Given the description of an element on the screen output the (x, y) to click on. 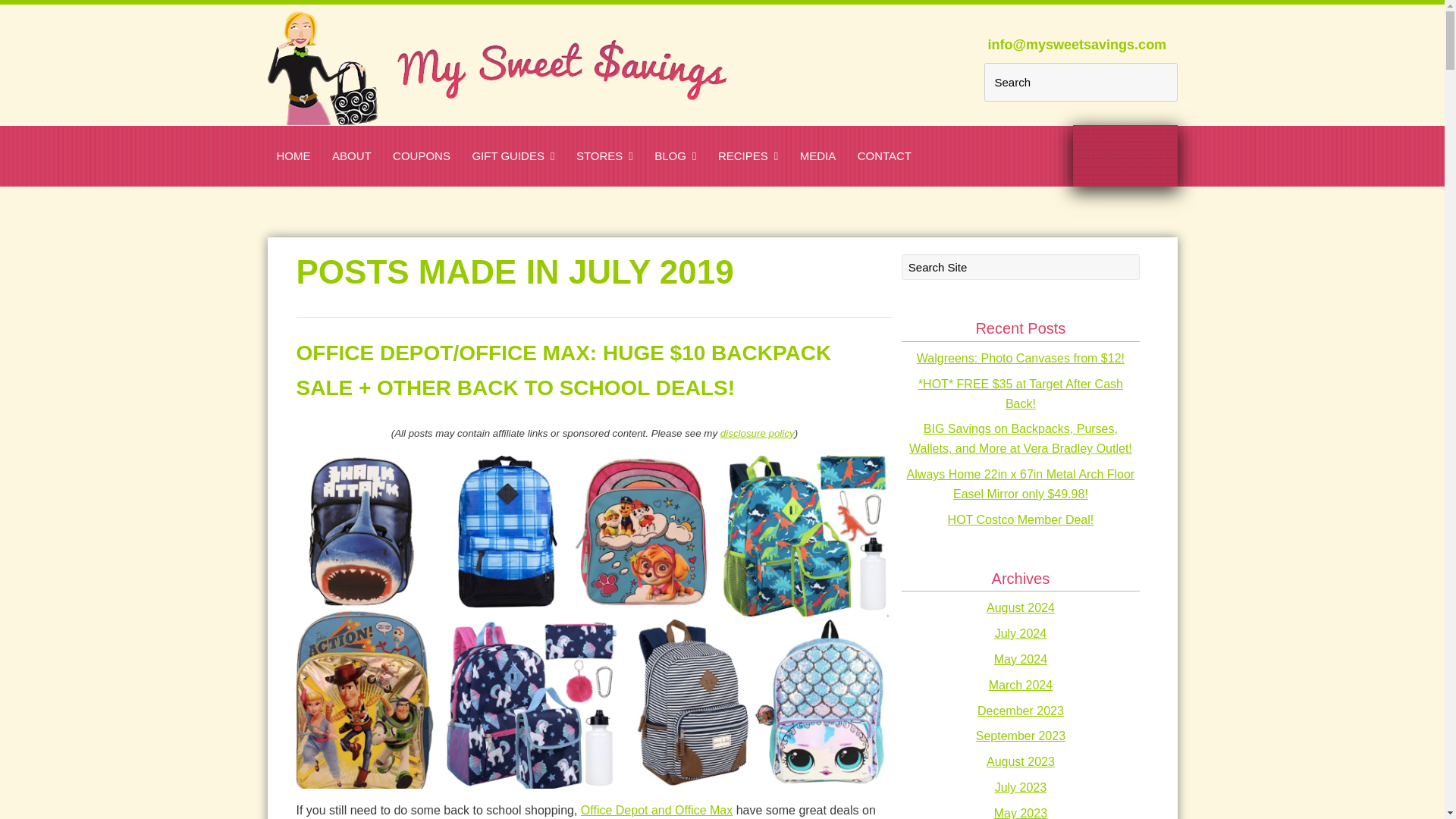
GIFT GUIDES (513, 155)
ENTREES (810, 187)
APPETIZERS (686, 187)
STORE (542, 187)
RECIPES (748, 155)
BLOG (674, 155)
ABOUT (351, 155)
KIDS (737, 187)
HOLIDAY 2018 (575, 187)
COUPONS (422, 155)
